Given the description of an element on the screen output the (x, y) to click on. 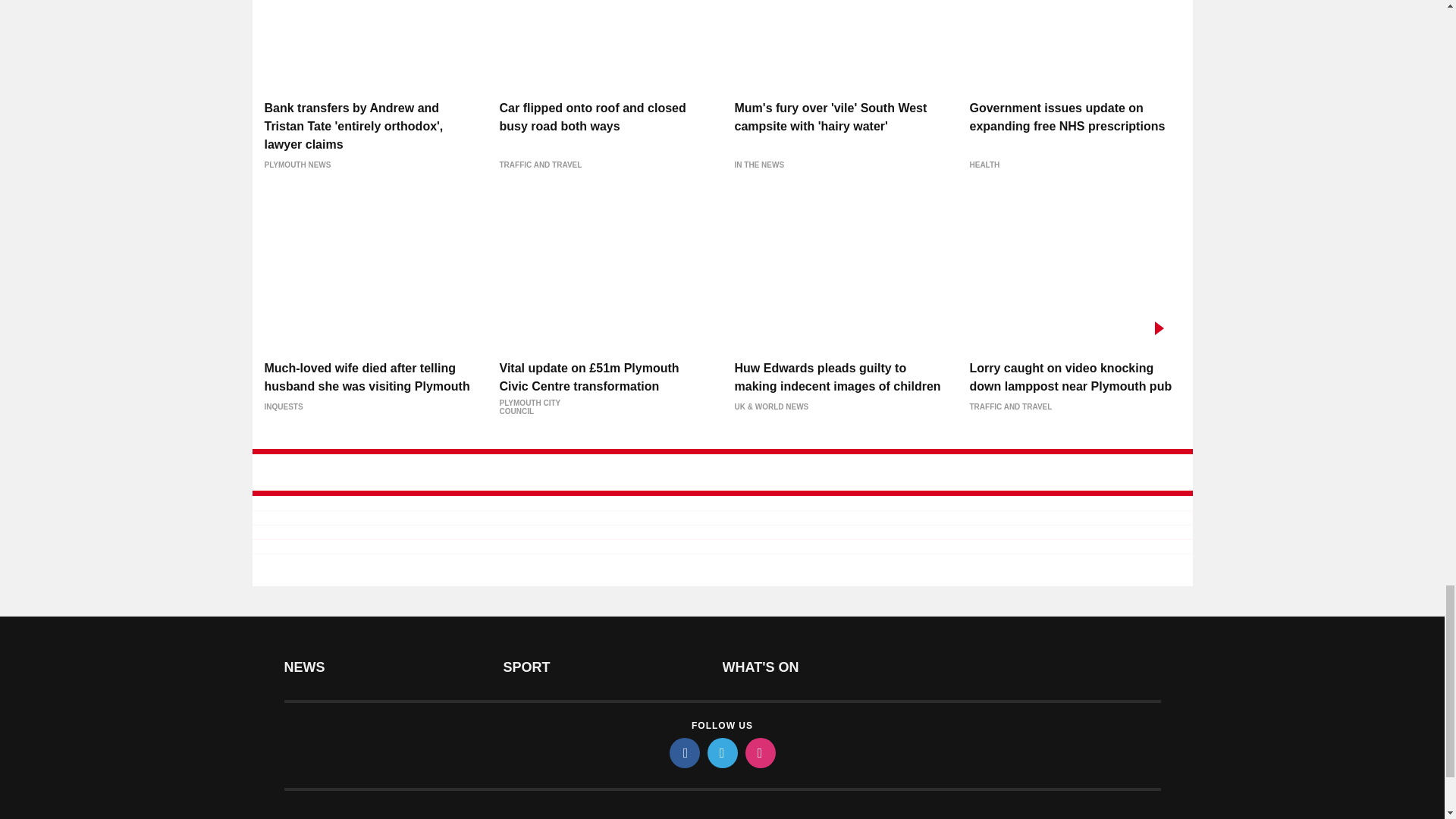
twitter (721, 752)
instagram (759, 752)
facebook (683, 752)
